Given the description of an element on the screen output the (x, y) to click on. 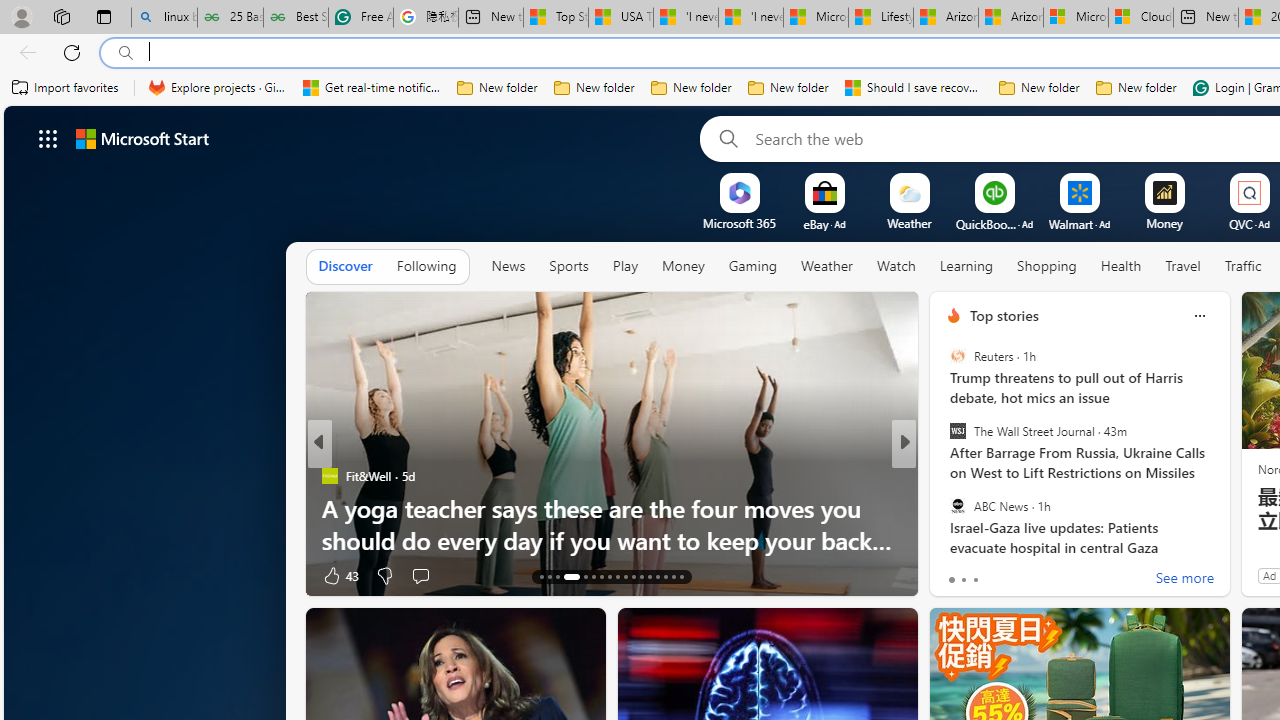
Weather (826, 265)
Travel (1183, 265)
Health (1121, 267)
Best SSL Certificates Provider in India - GeeksforGeeks (295, 17)
View comments 202 Comment (1042, 575)
Sports (568, 265)
Sports (569, 267)
View comments 2 Comment (1036, 575)
The Hearty Soul (944, 507)
Cloud Computing Services | Microsoft Azure (1140, 17)
tab-0 (950, 579)
Search icon (125, 53)
